Given the description of an element on the screen output the (x, y) to click on. 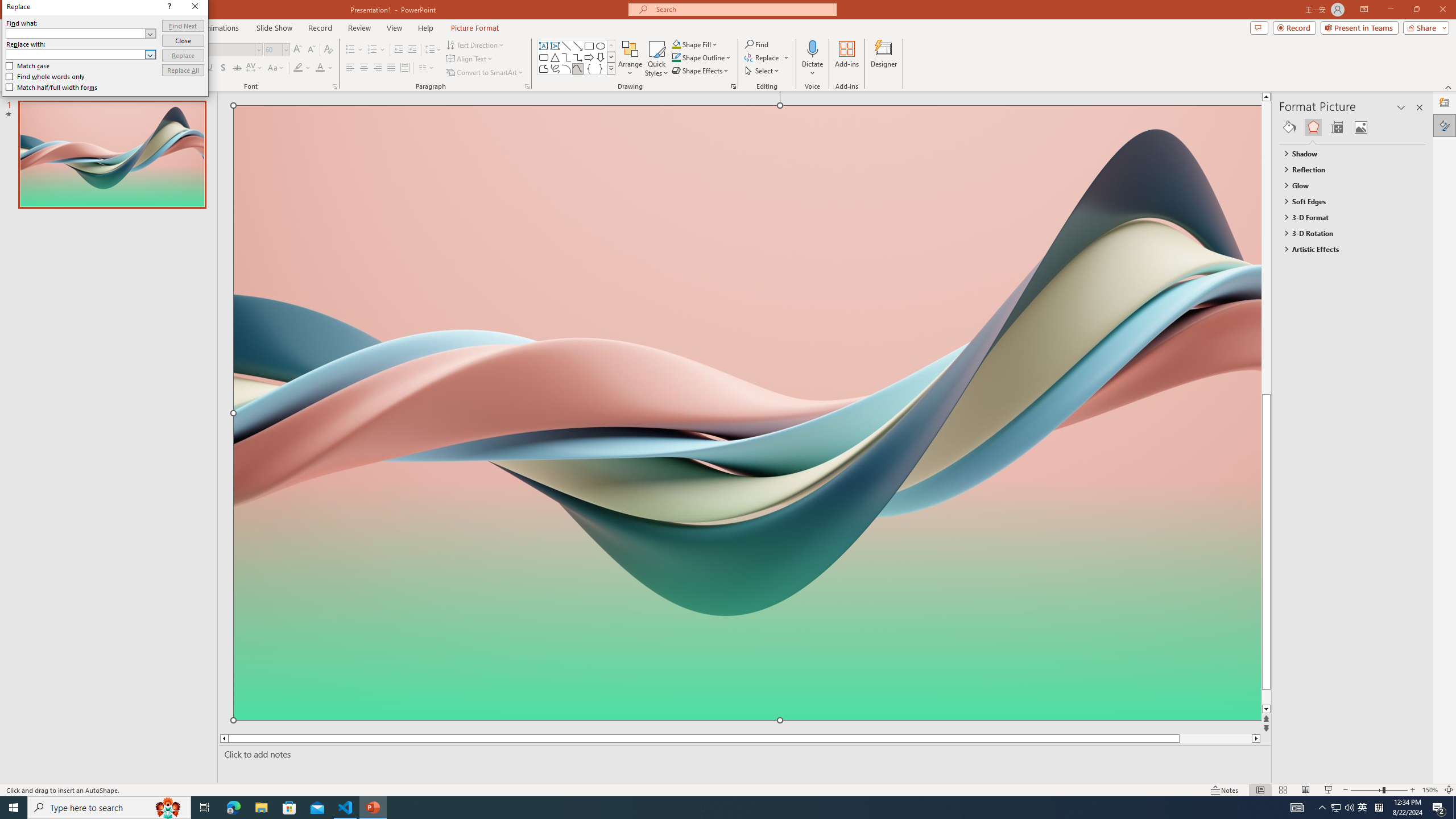
PowerPoint - 1 running window (373, 807)
Convert to SmartArt (1362, 807)
Find whole words only (485, 72)
Microsoft Store (45, 76)
Freeform: Shape (289, 807)
Increase Font Size (543, 68)
Q2790: 100% (297, 49)
User Promoted Notification Area (1349, 807)
Show desktop (1342, 807)
